Given the description of an element on the screen output the (x, y) to click on. 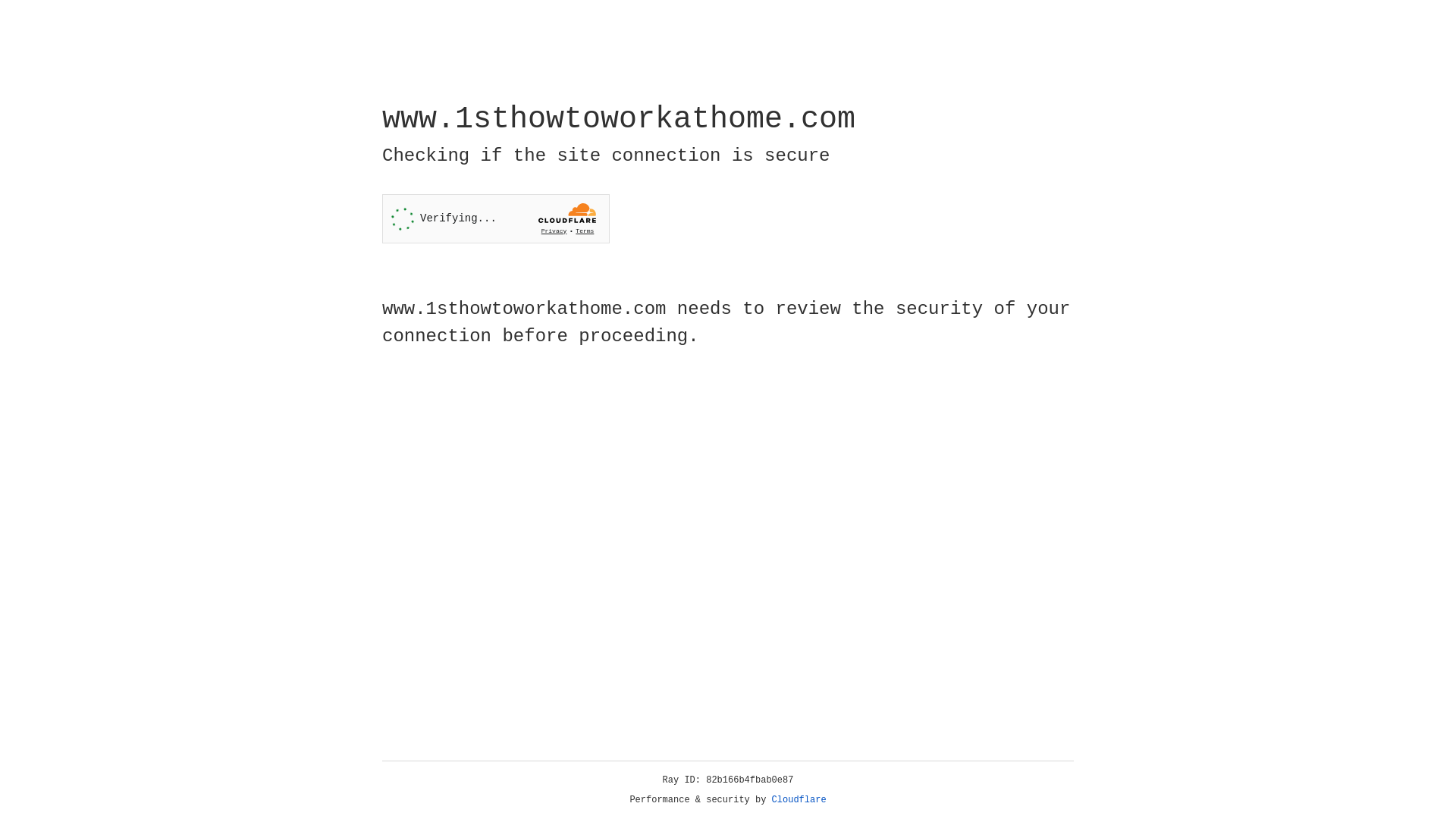
Widget containing a Cloudflare security challenge Element type: hover (495, 218)
Cloudflare Element type: text (798, 799)
